Given the description of an element on the screen output the (x, y) to click on. 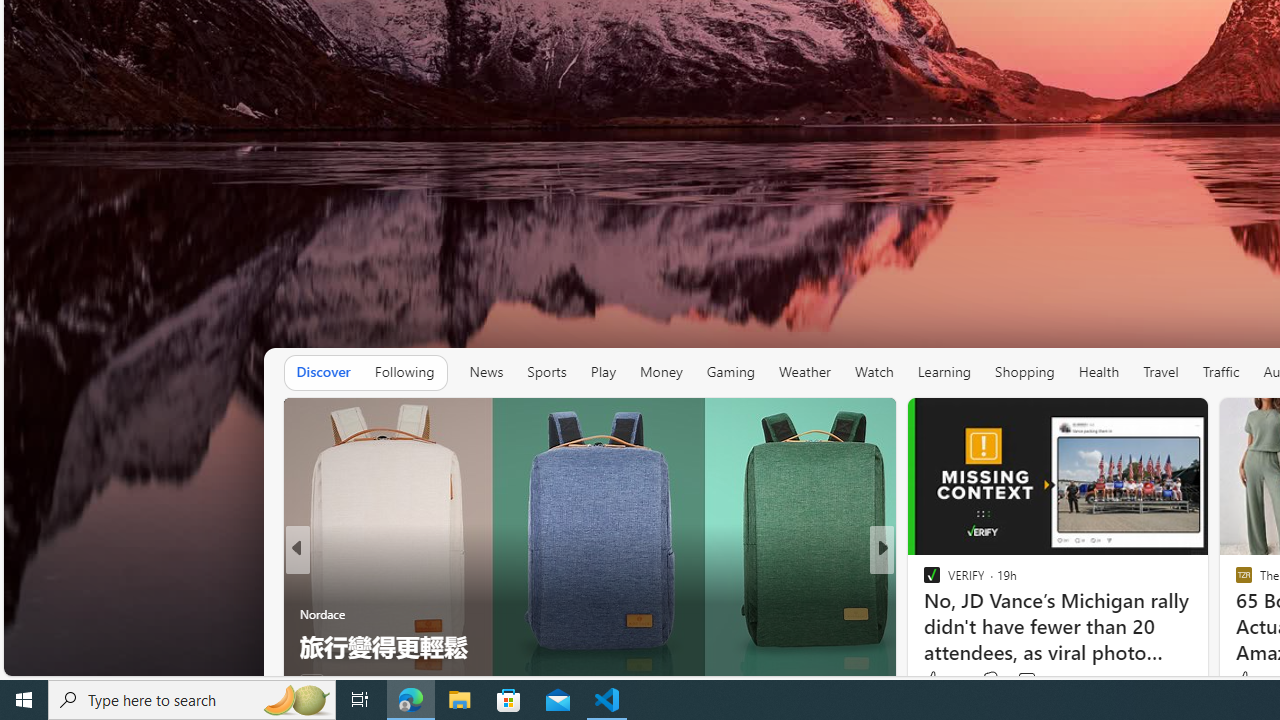
View comments 23 Comment (1019, 681)
View comments 121 Comment (1026, 679)
View comments 12 Comment (1014, 681)
View comments 17 Comment (1029, 681)
Travel (1160, 371)
View comments 38 Comment (1021, 681)
Money (660, 371)
Traffic (1220, 371)
130 Like (936, 681)
Sports (546, 371)
Simply Recipes (923, 581)
